Given the description of an element on the screen output the (x, y) to click on. 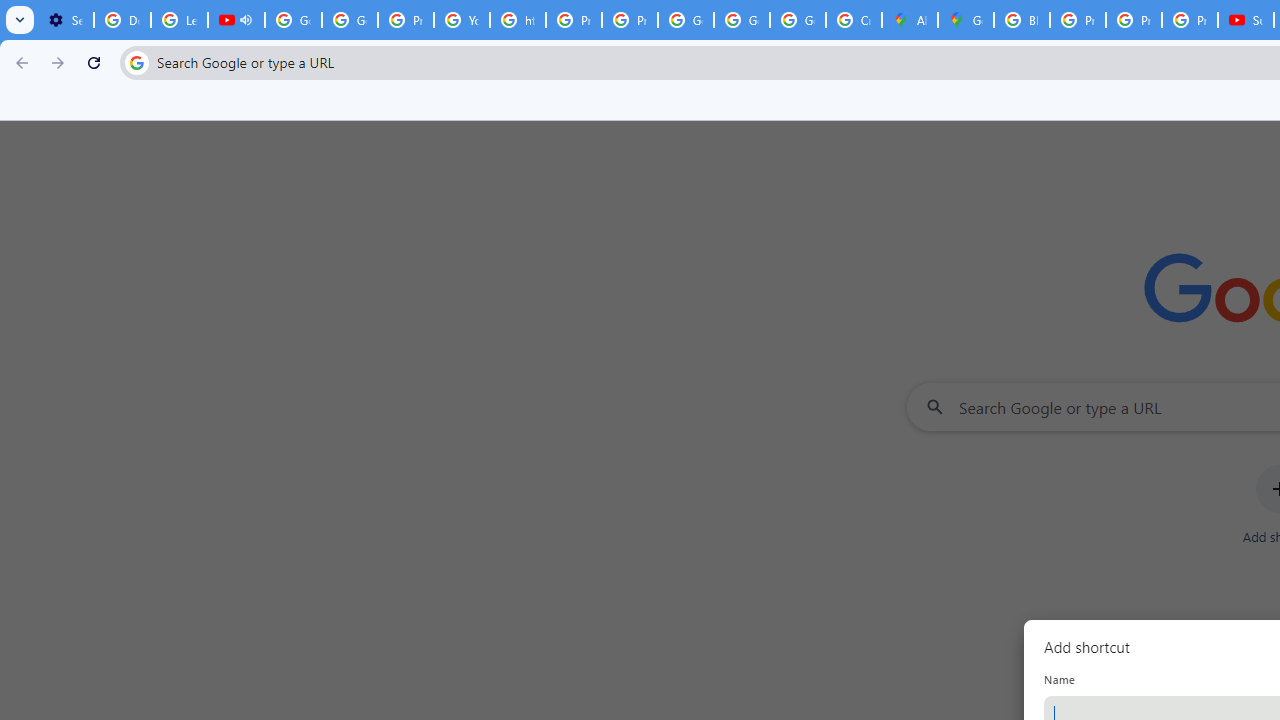
Privacy Help Center - Policies Help (1077, 20)
Privacy Help Center - Policies Help (405, 20)
Learn how to find your photos - Google Photos Help (179, 20)
Mute tab (245, 20)
Blogger Policies and Guidelines - Transparency Center (1021, 20)
Delete photos & videos - Computer - Google Photos Help (122, 20)
Google Account Help (349, 20)
Google Account Help (293, 20)
Create your Google Account (853, 20)
